Given the description of an element on the screen output the (x, y) to click on. 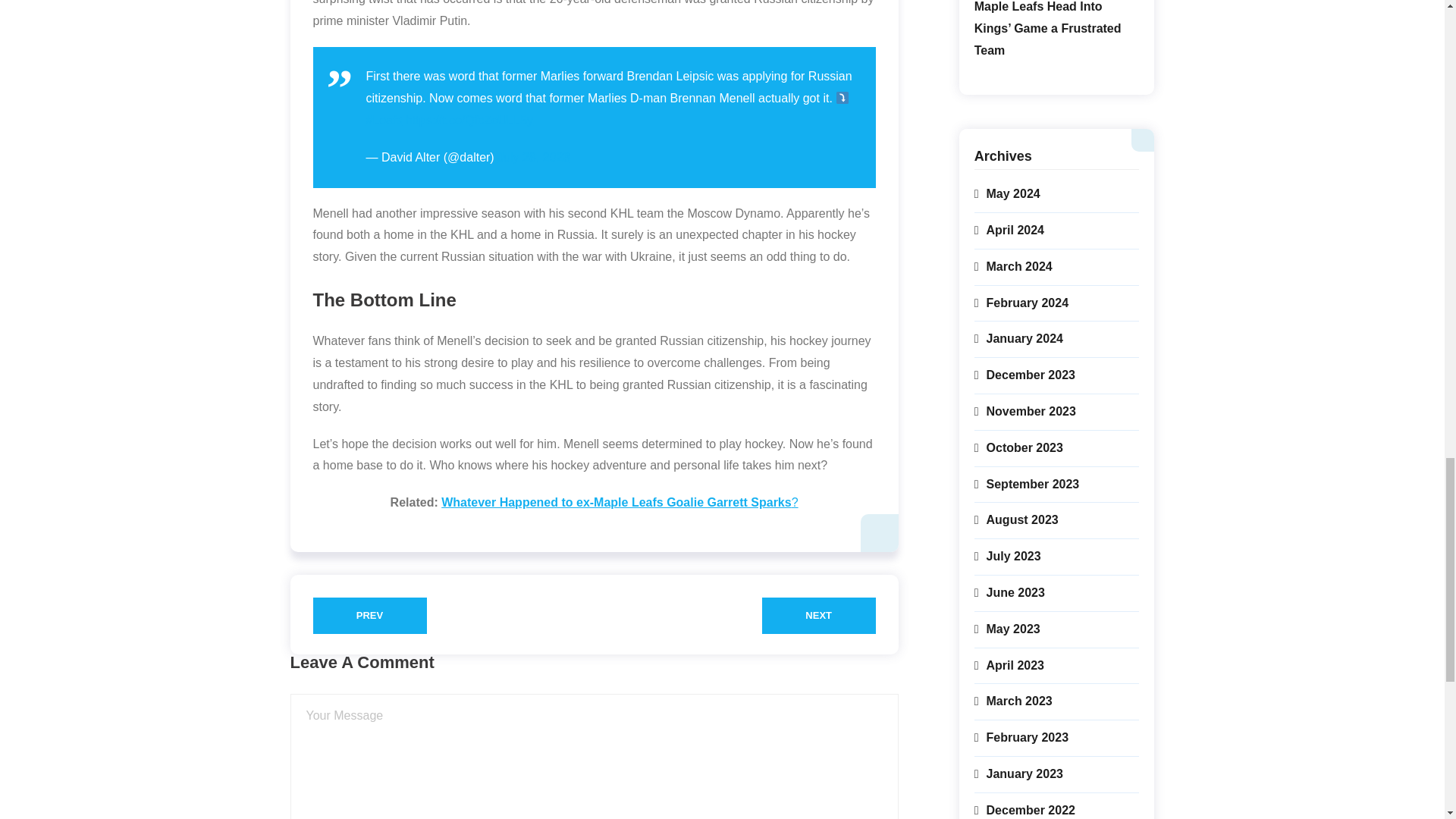
July 28, 2023 (533, 156)
PREV (369, 615)
Whatever Happened to ex-Maple Leafs Goalie Garrett Sparks? (619, 502)
NEXT (818, 615)
